Given the description of an element on the screen output the (x, y) to click on. 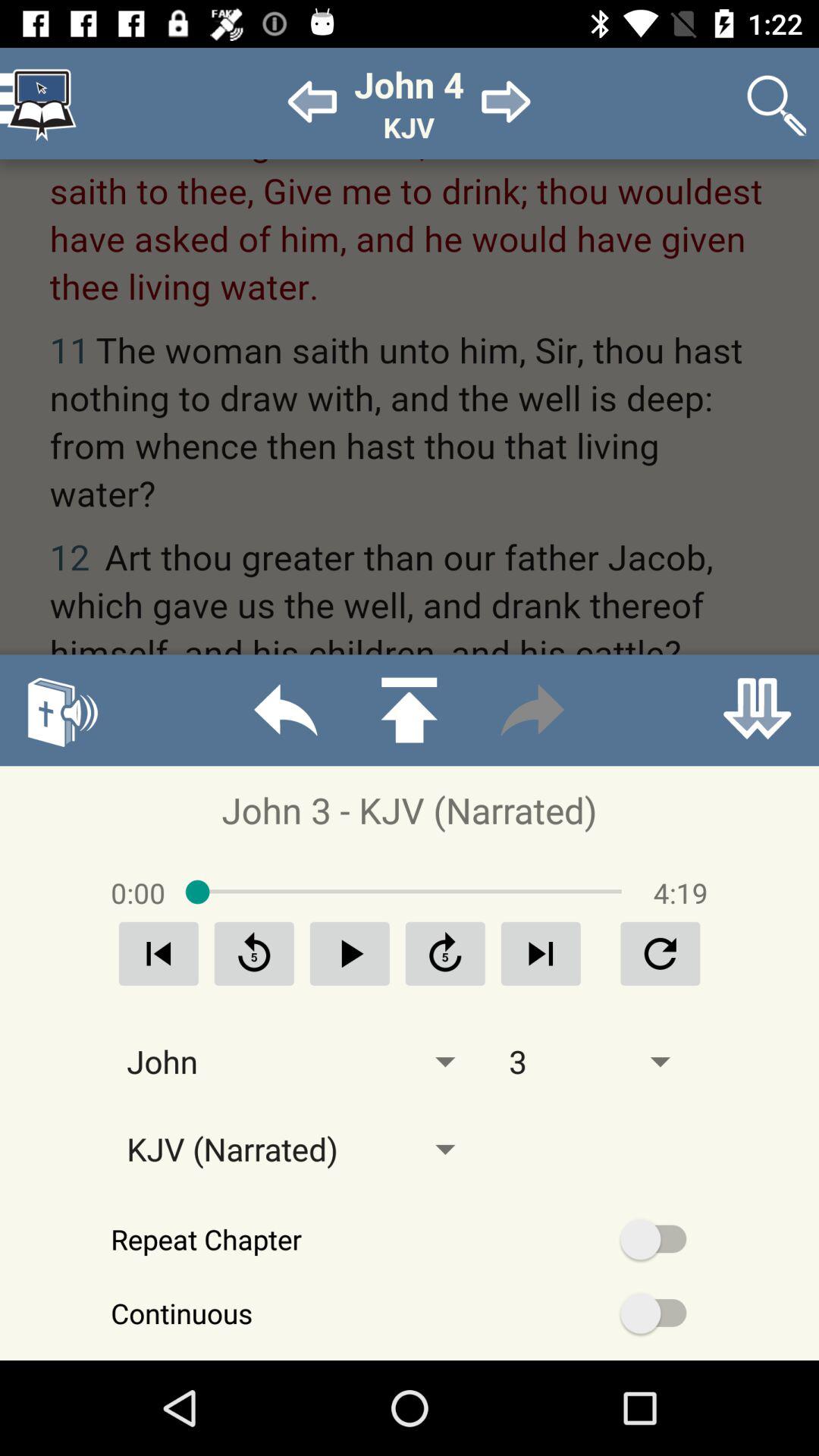
redo option (532, 709)
